Given the description of an element on the screen output the (x, y) to click on. 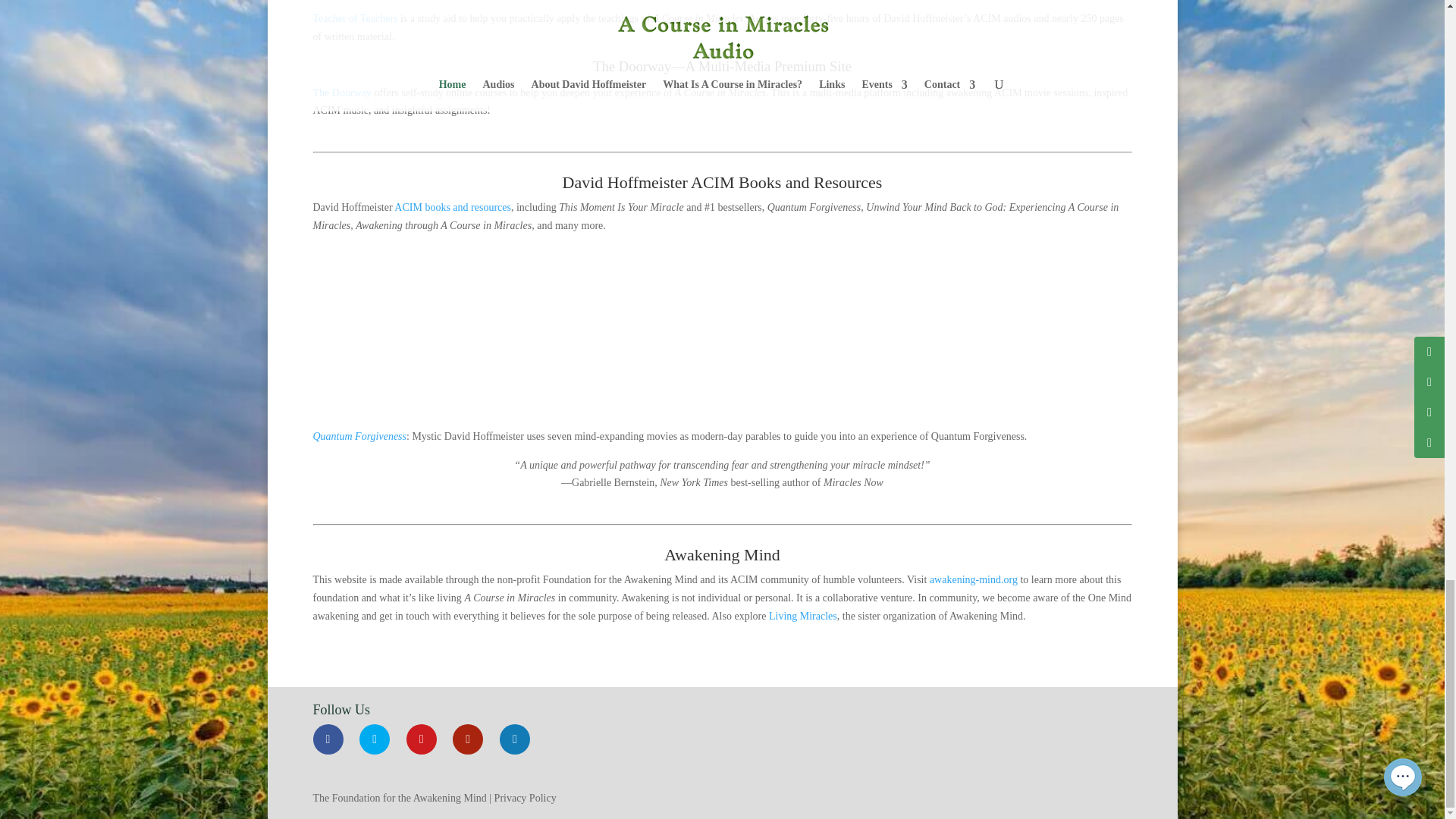
awakening-mind.org (973, 579)
Quantum Forgiveness (722, 330)
Teacher of Teachers (355, 18)
ACIM books and resources (452, 206)
Quantum Forgiveness (359, 436)
The Doorway (342, 92)
